Given the description of an element on the screen output the (x, y) to click on. 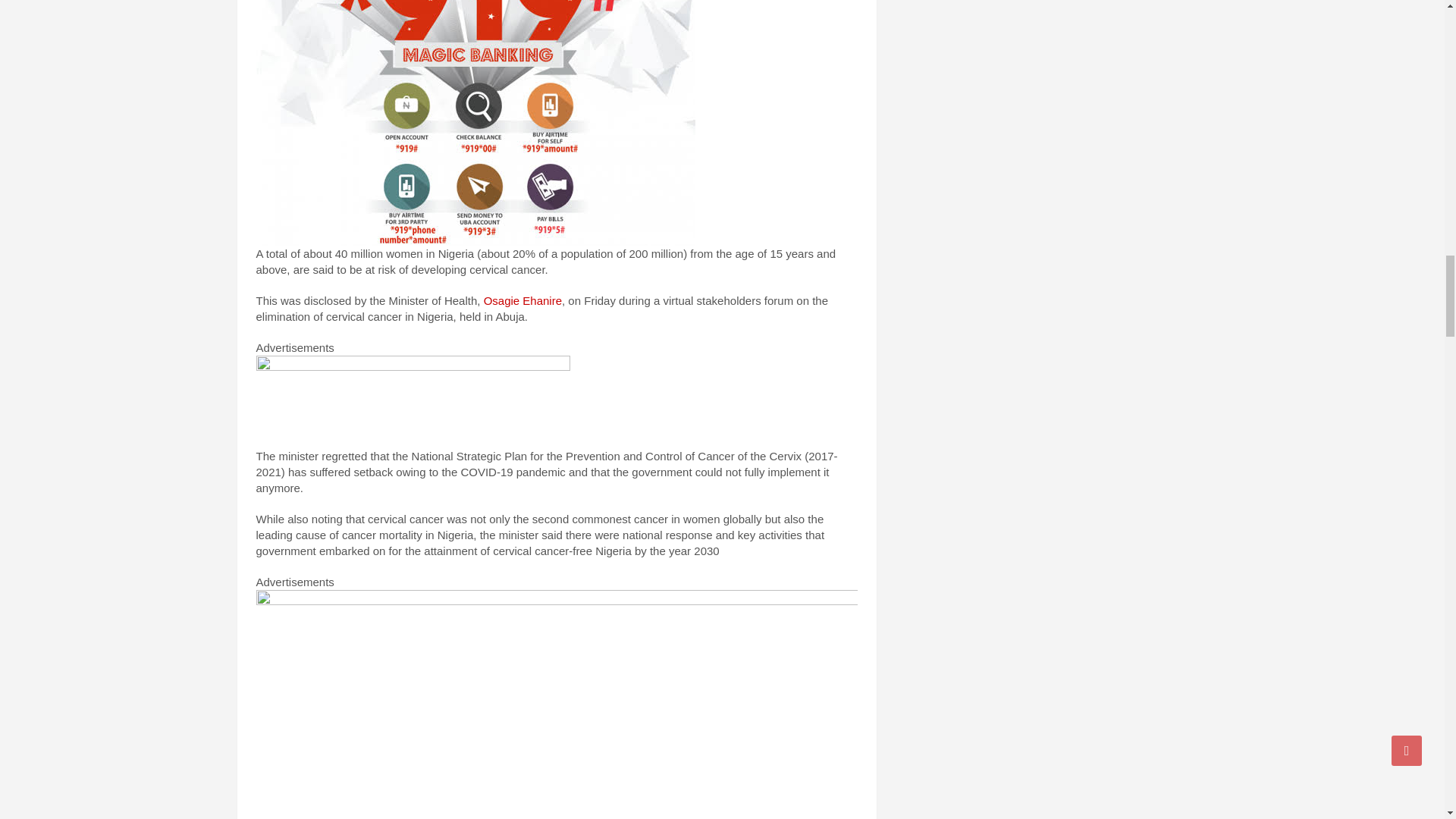
Osagie Ehanire (522, 300)
